Given the description of an element on the screen output the (x, y) to click on. 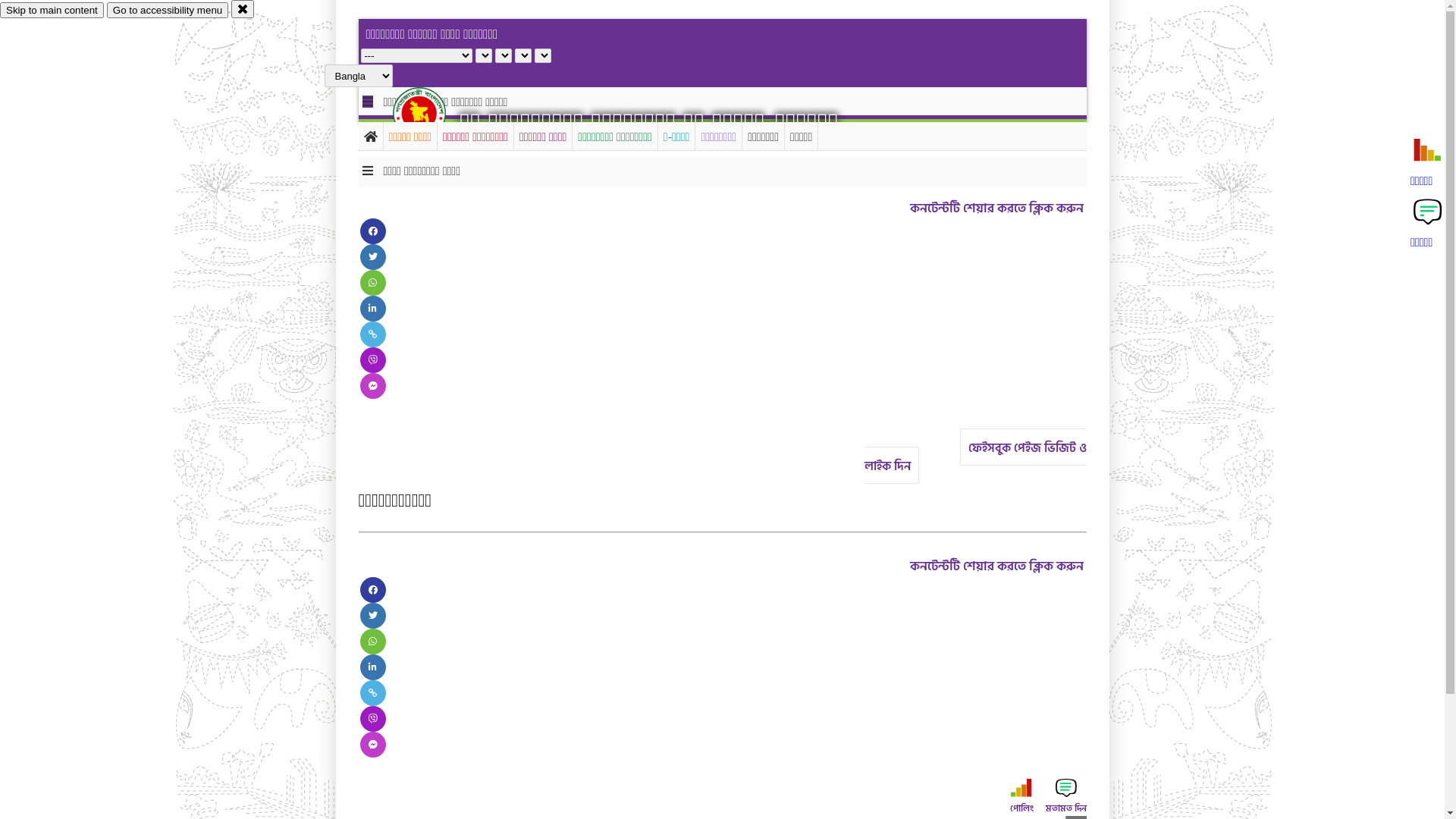
Go to accessibility menu Element type: text (167, 10)

                
             Element type: hover (431, 112)
close Element type: hover (242, 9)
Skip to main content Element type: text (51, 10)
